Given the description of an element on the screen output the (x, y) to click on. 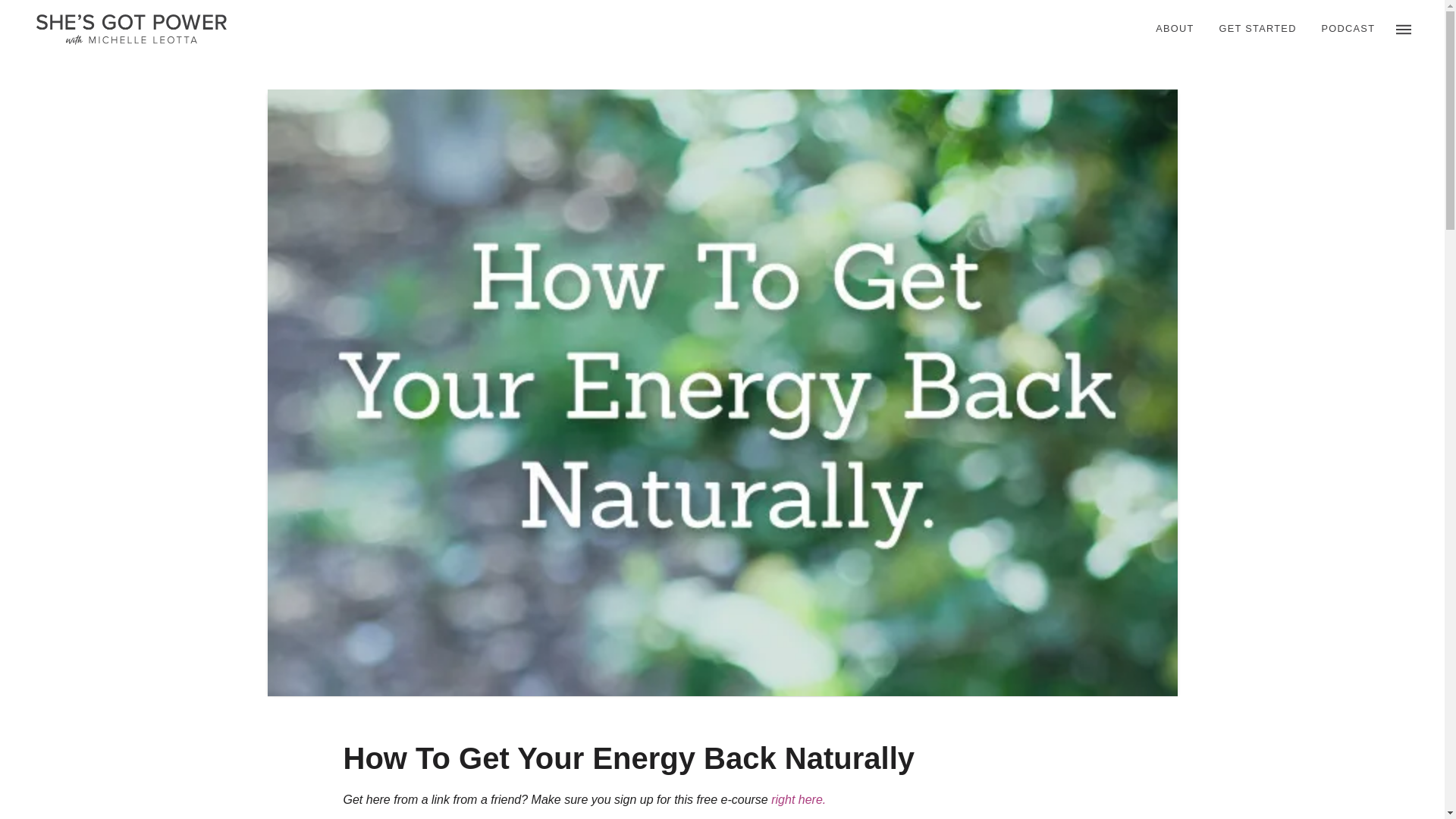
GET STARTED (1256, 28)
ABOUT (1173, 28)
right here. (798, 799)
PODCAST (1347, 28)
